Given the description of an element on the screen output the (x, y) to click on. 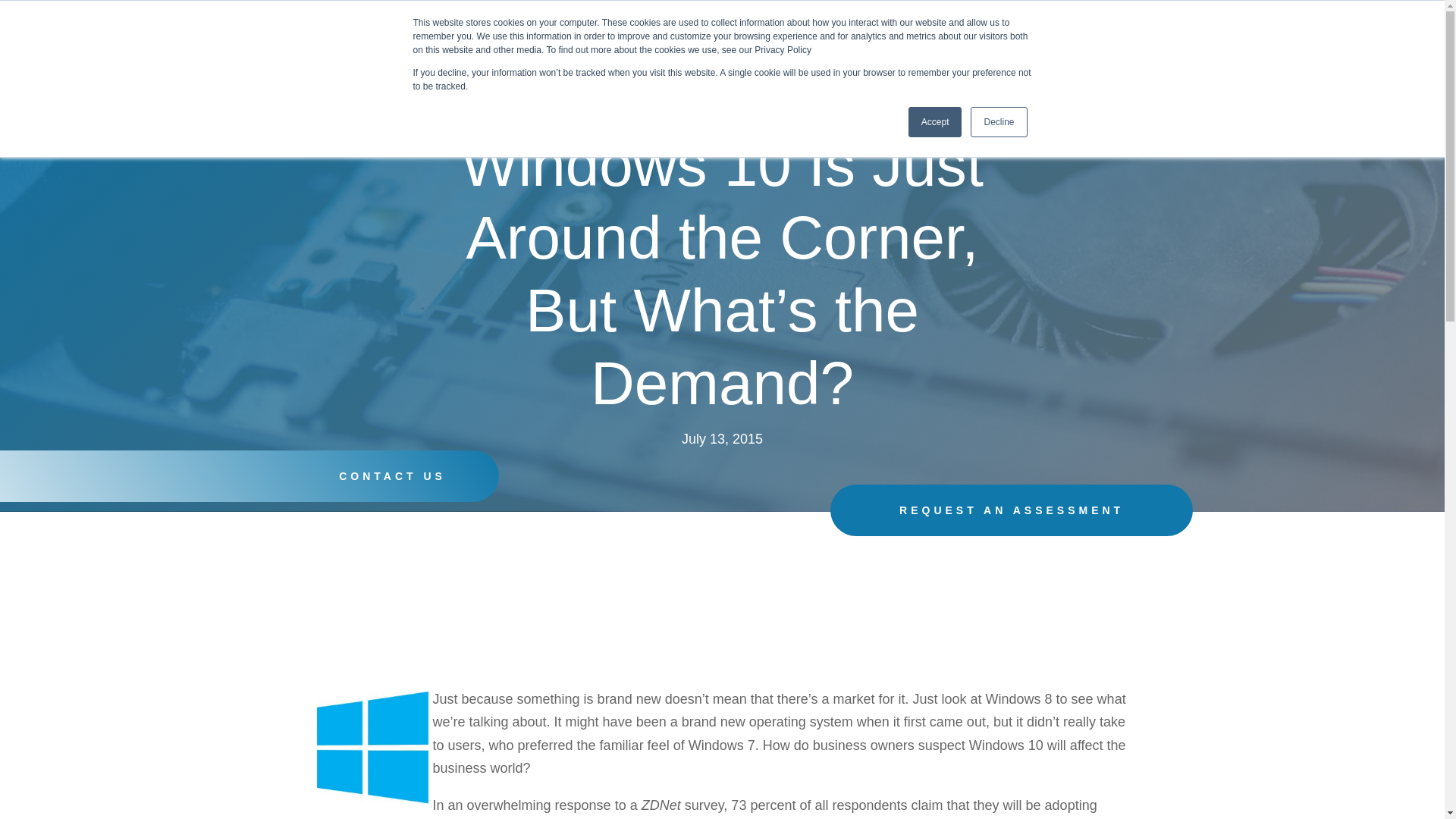
About Us (707, 49)
Compliance (972, 49)
Contact Us (1342, 37)
Staffing (1042, 49)
Accessibility Tools (19, 133)
Accept (935, 122)
Accessibility Tools (19, 133)
Careers (1102, 49)
Cybersecurity (885, 49)
IT Services (793, 49)
Decline (998, 122)
Request Free Assessment (19, 133)
